Given the description of an element on the screen output the (x, y) to click on. 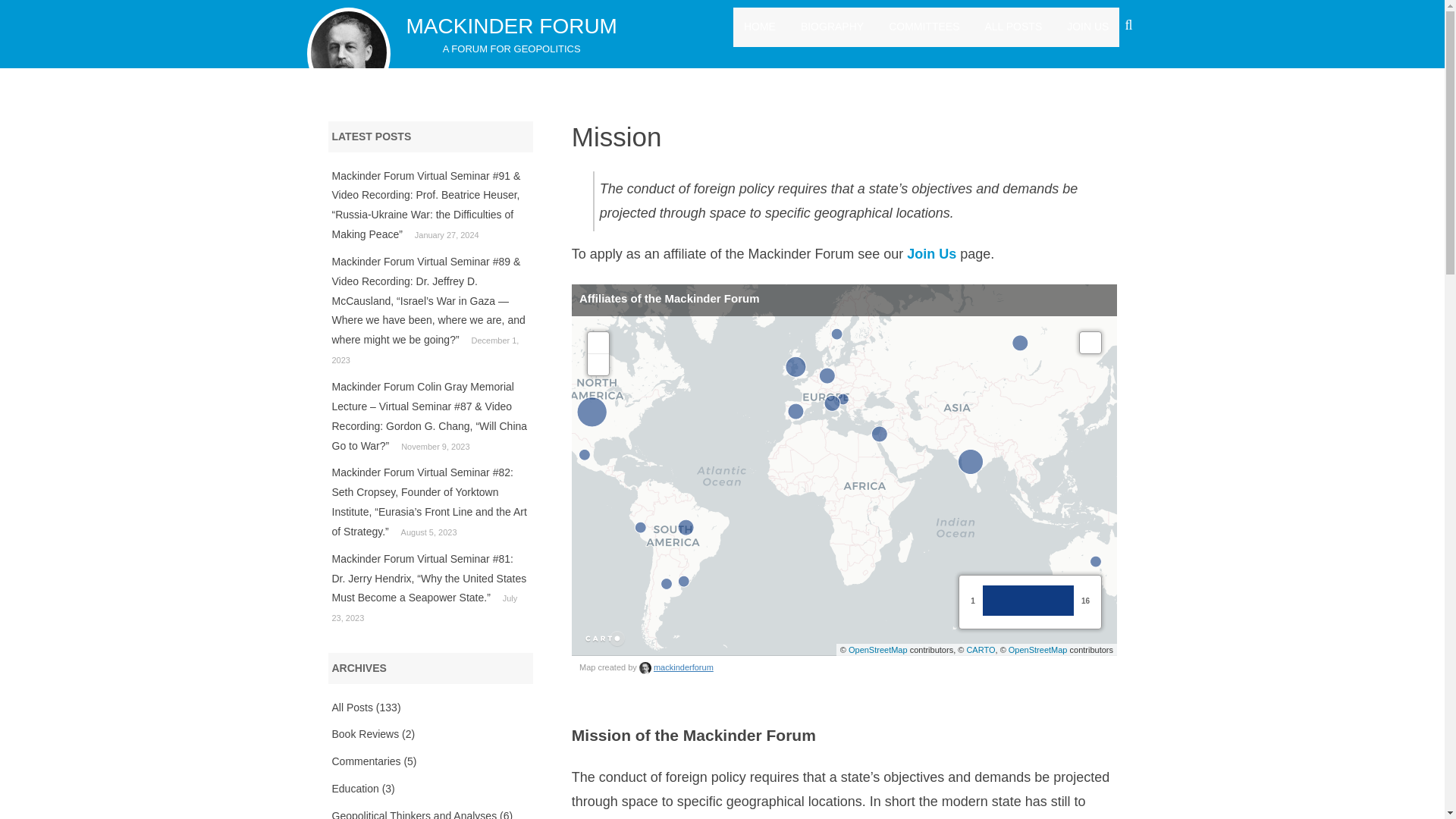
Join Us (931, 253)
Geopolitical Thinkers and Analyses (414, 814)
JOIN US (1087, 26)
COMMITTEES (923, 26)
Mackinder Forum (511, 26)
MACKINDER FORUM (511, 26)
All Posts (351, 707)
ALL POSTS (1013, 26)
Education (354, 788)
Commentaries (366, 761)
BIOGRAPHY (831, 26)
Book Reviews (364, 734)
